Given the description of an element on the screen output the (x, y) to click on. 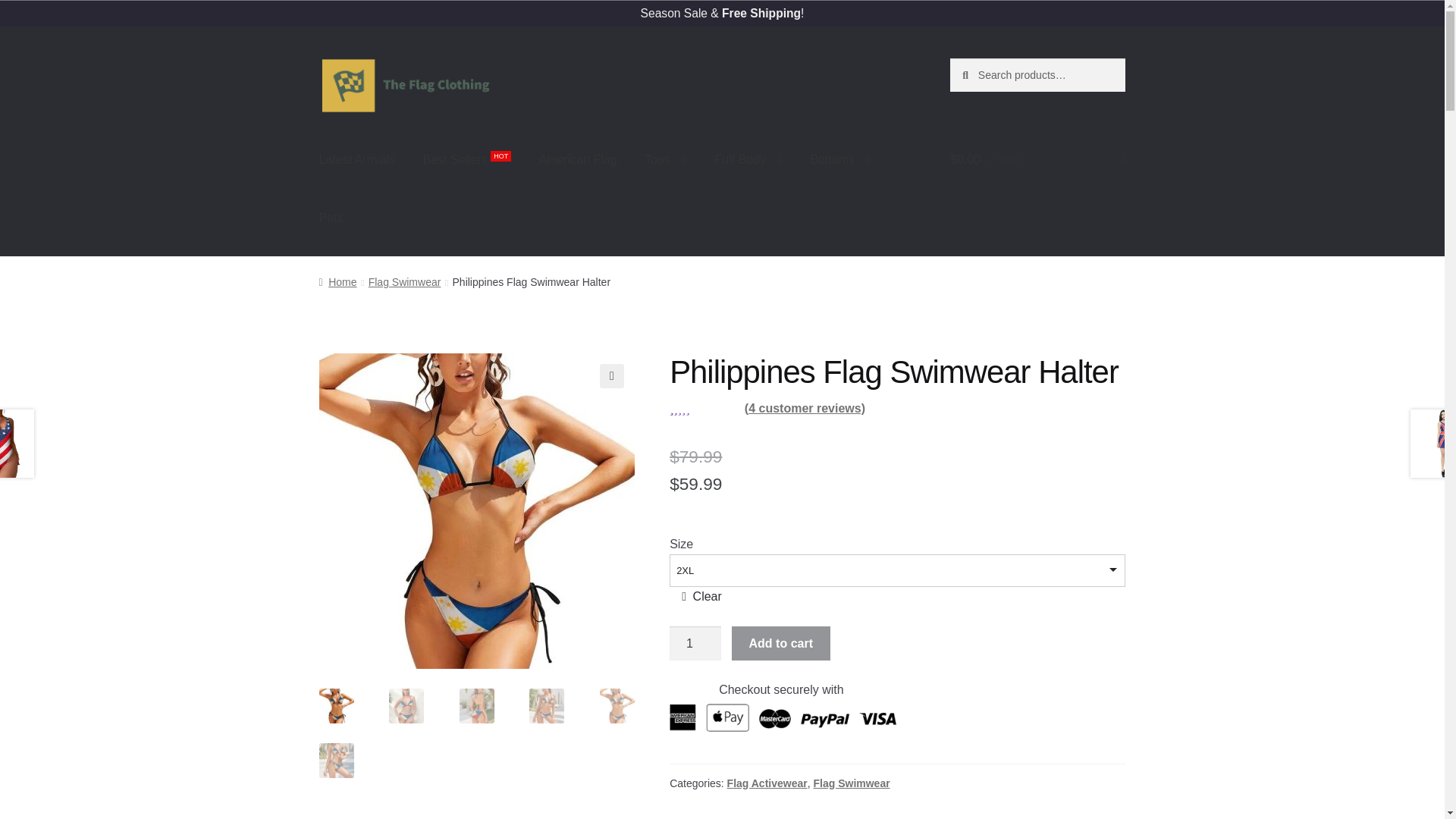
Latest Arrivals (357, 159)
Tops (664, 159)
Best Sellers HOT (466, 159)
American Flag (577, 159)
Bottoms (840, 159)
Full-Body (747, 159)
View your shopping cart (1037, 159)
1 (694, 643)
